Given the description of an element on the screen output the (x, y) to click on. 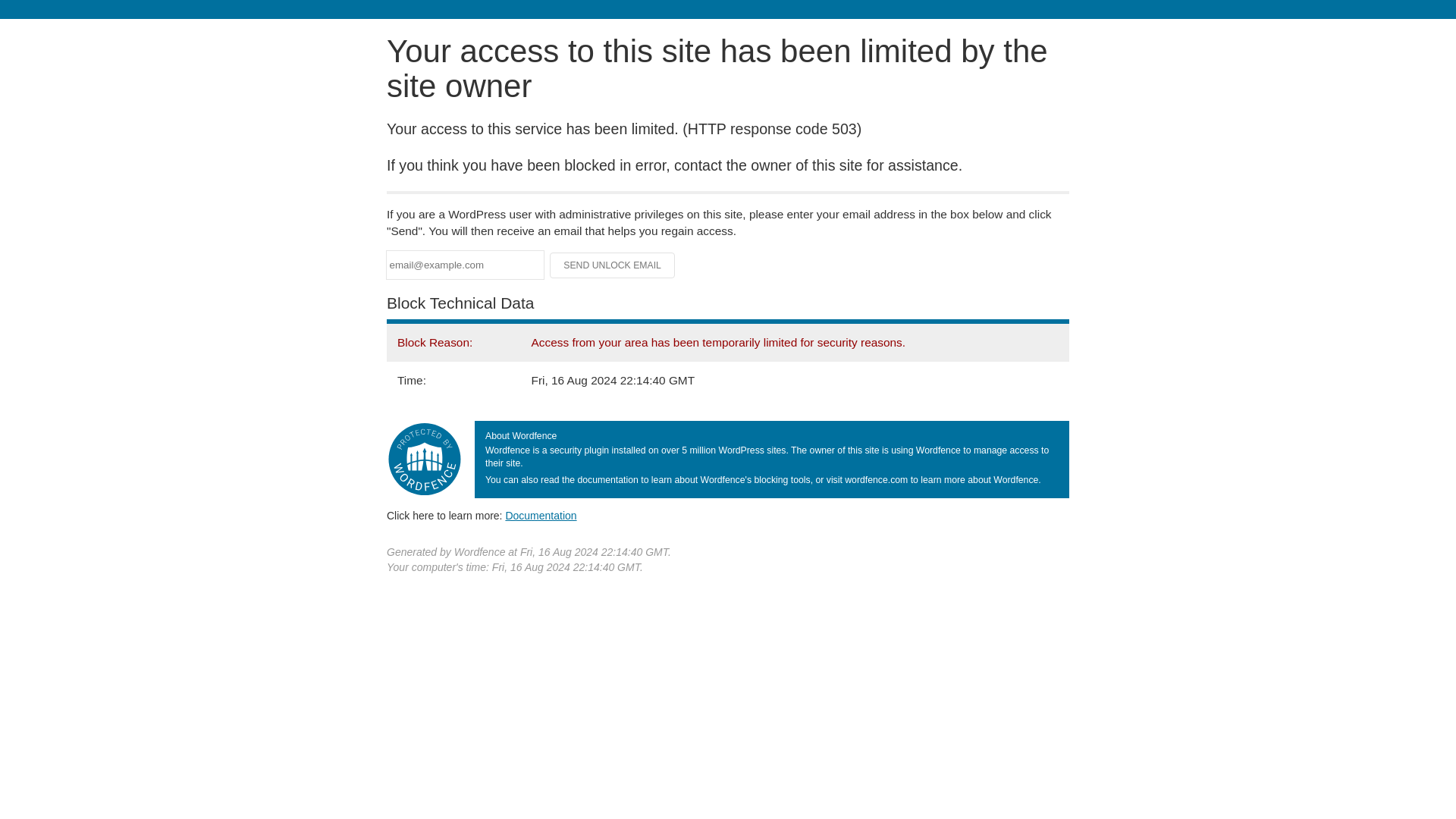
Send Unlock Email (612, 265)
Documentation (540, 515)
Send Unlock Email (612, 265)
